Given the description of an element on the screen output the (x, y) to click on. 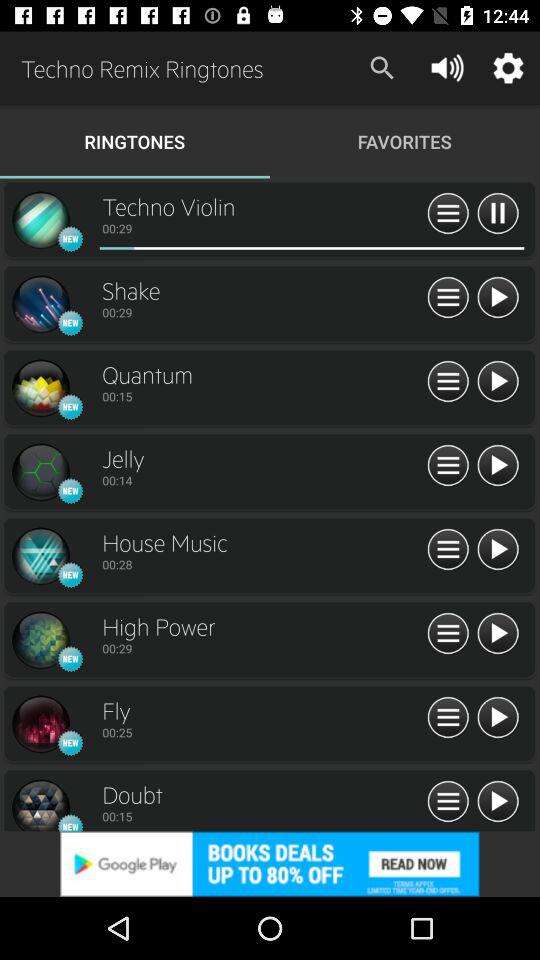
click for advertisement (270, 864)
